Given the description of an element on the screen output the (x, y) to click on. 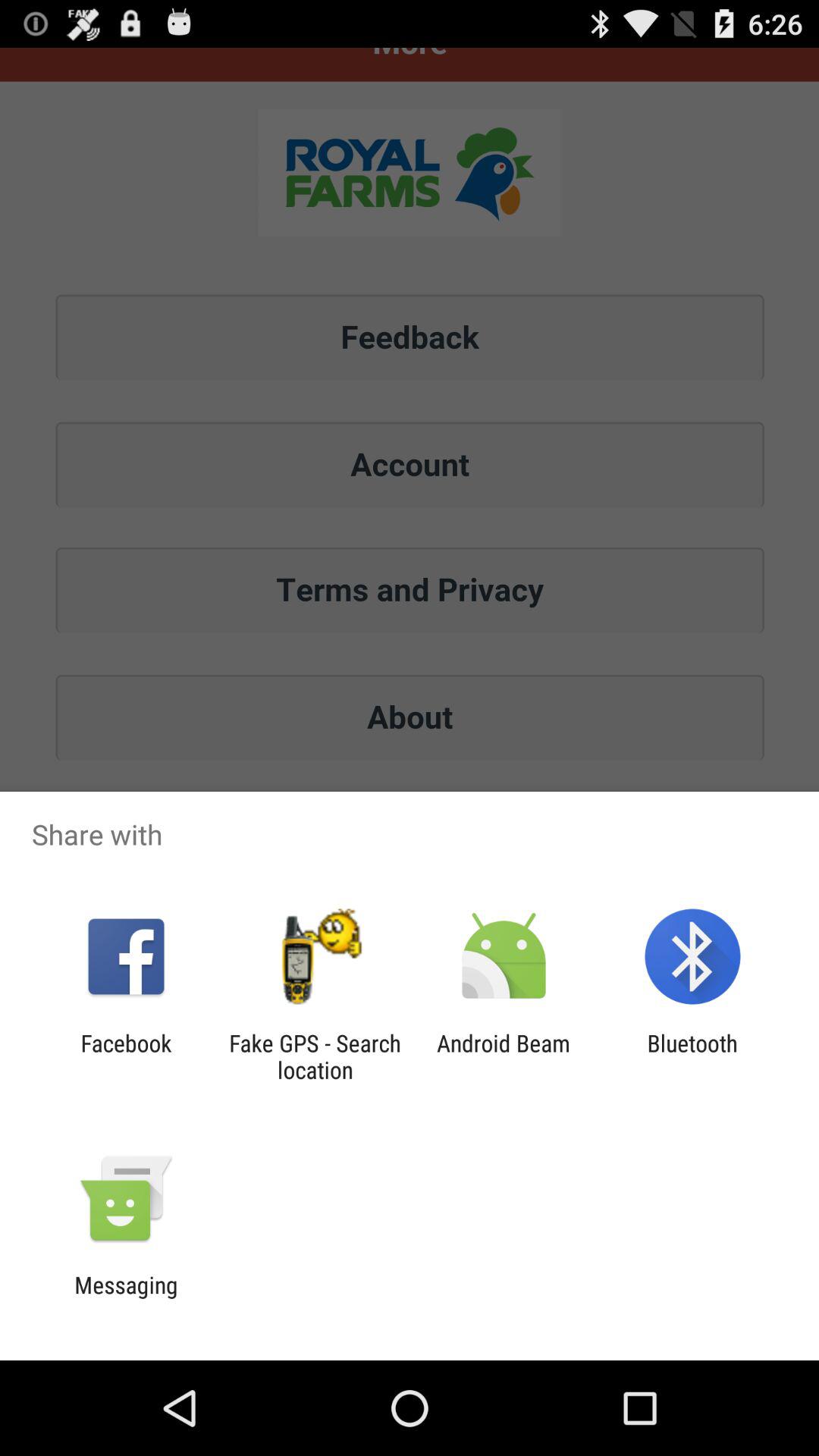
click the item next to the android beam app (314, 1056)
